Given the description of an element on the screen output the (x, y) to click on. 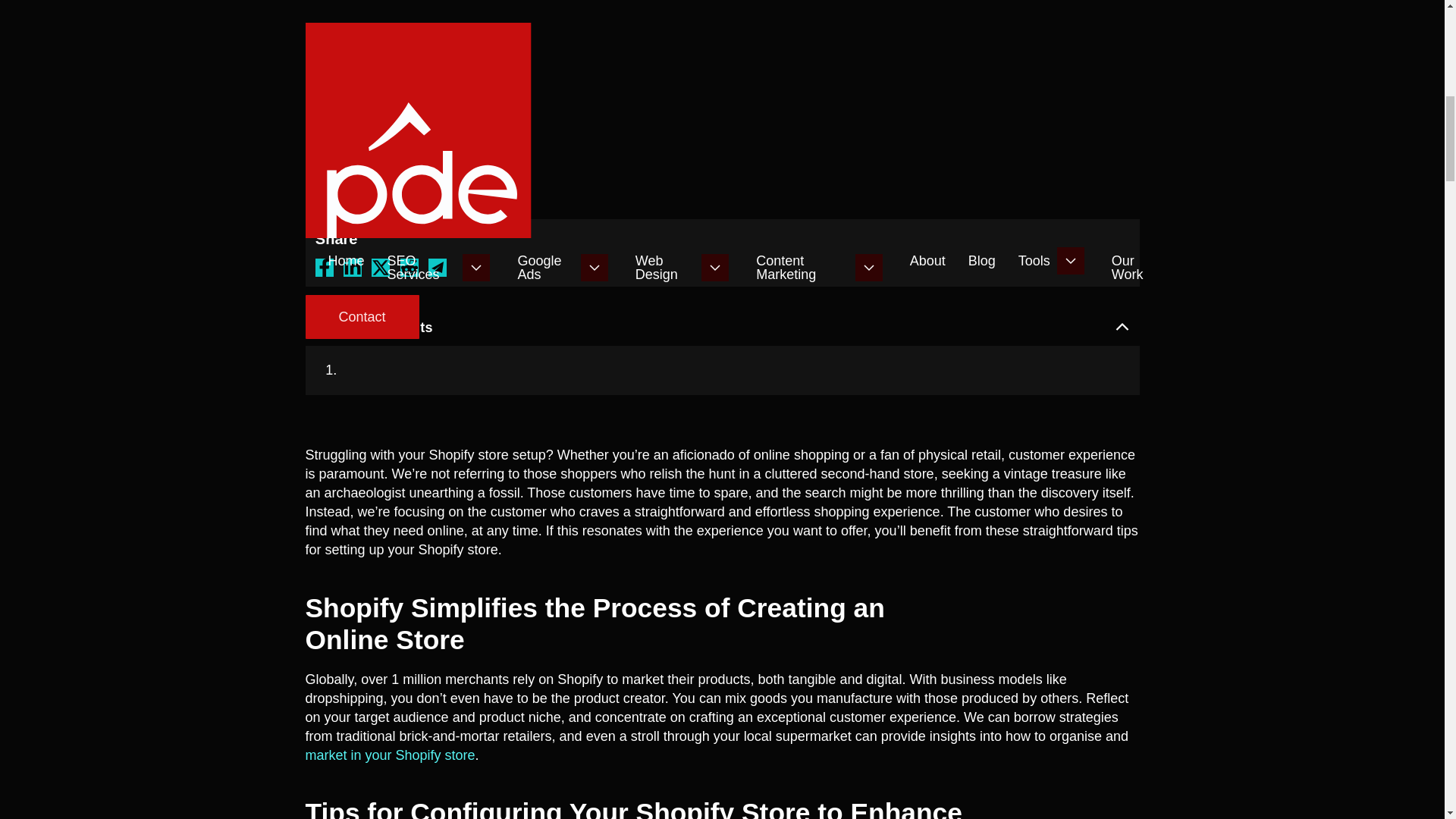
Share article to Facebook (324, 267)
Share article to X (380, 267)
Share article to X (409, 267)
Share article via email (437, 267)
